Given the description of an element on the screen output the (x, y) to click on. 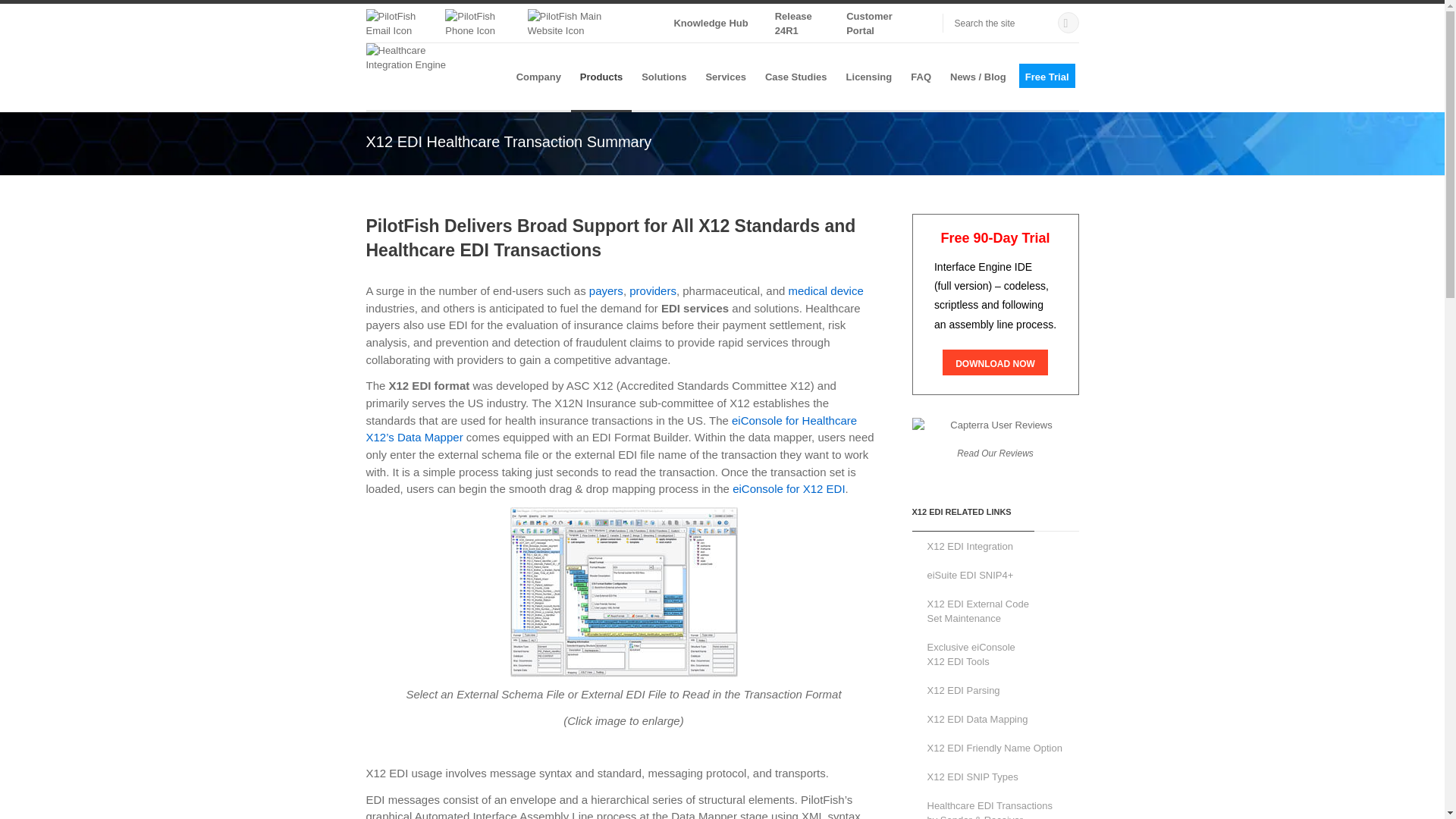
Search (1067, 20)
Customer Portal (868, 23)
Release 24R1 (793, 23)
Company (538, 78)
Knowledge Hub (710, 22)
